Given the description of an element on the screen output the (x, y) to click on. 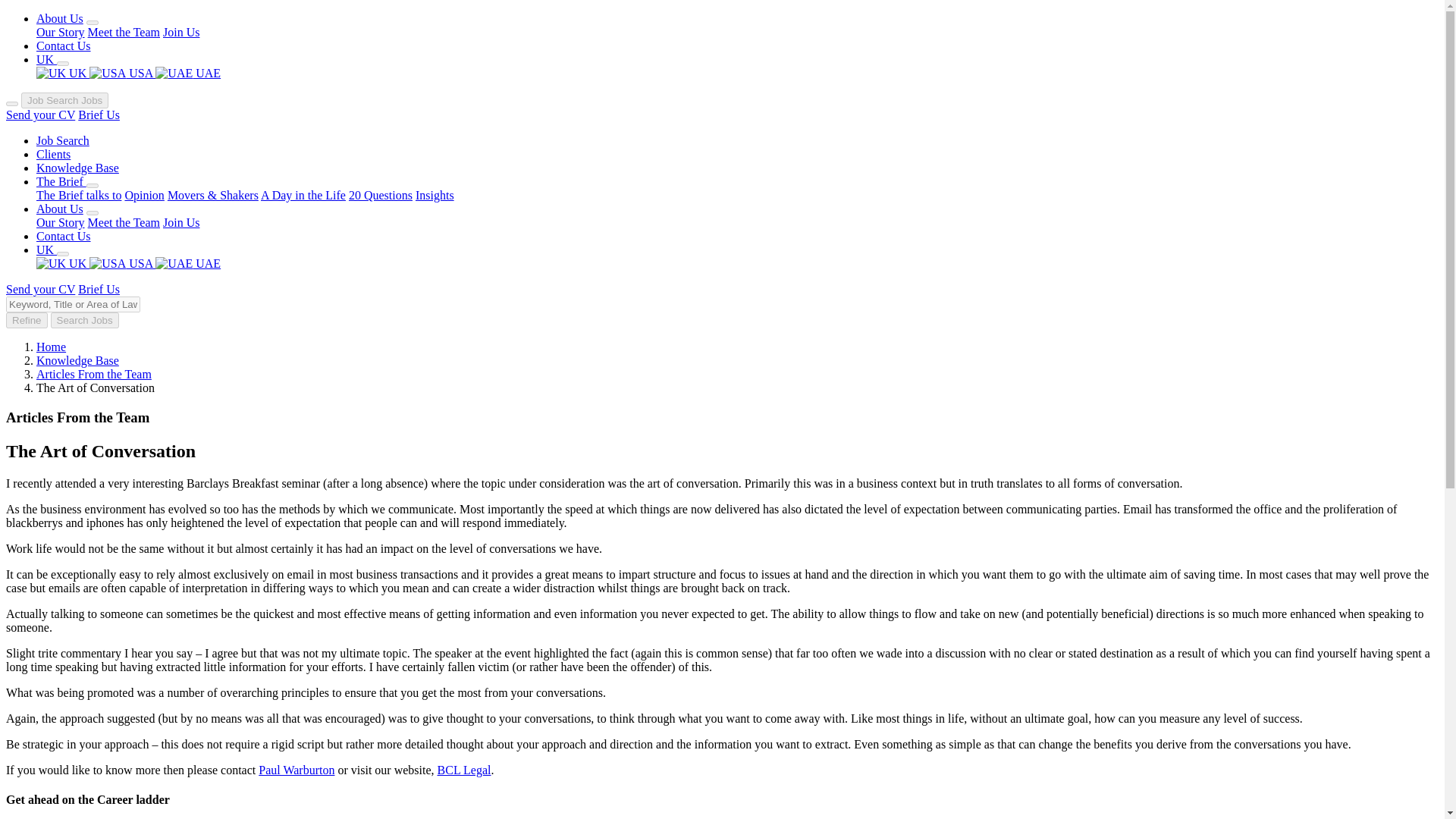
Join Us (181, 222)
20 Questions (380, 195)
Brief Us (98, 114)
Contact Us (63, 45)
About Us (59, 18)
UAE (188, 263)
UK (62, 72)
Our Story (60, 31)
The Brief talks to (78, 195)
Meet the Team (123, 222)
